Given the description of an element on the screen output the (x, y) to click on. 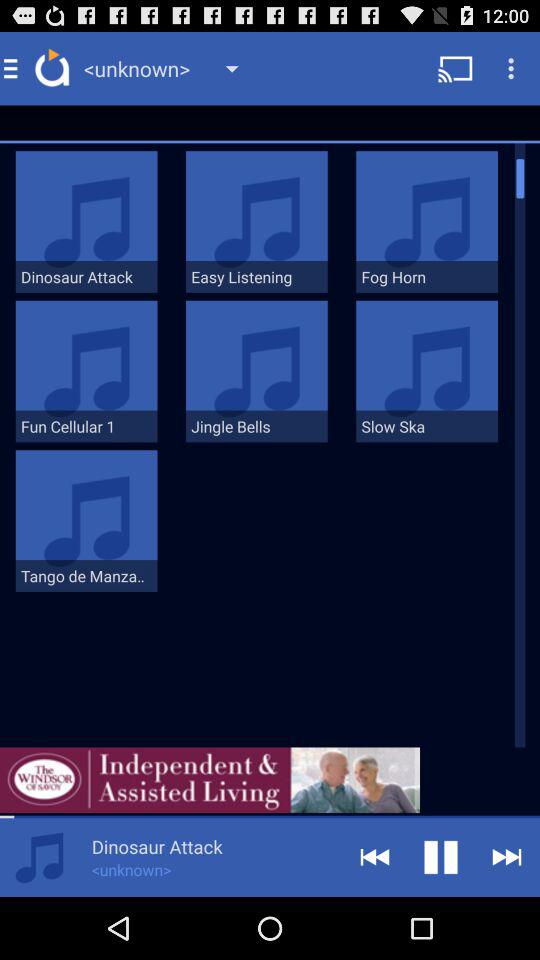
independent 7 assisted living (210, 780)
